Given the description of an element on the screen output the (x, y) to click on. 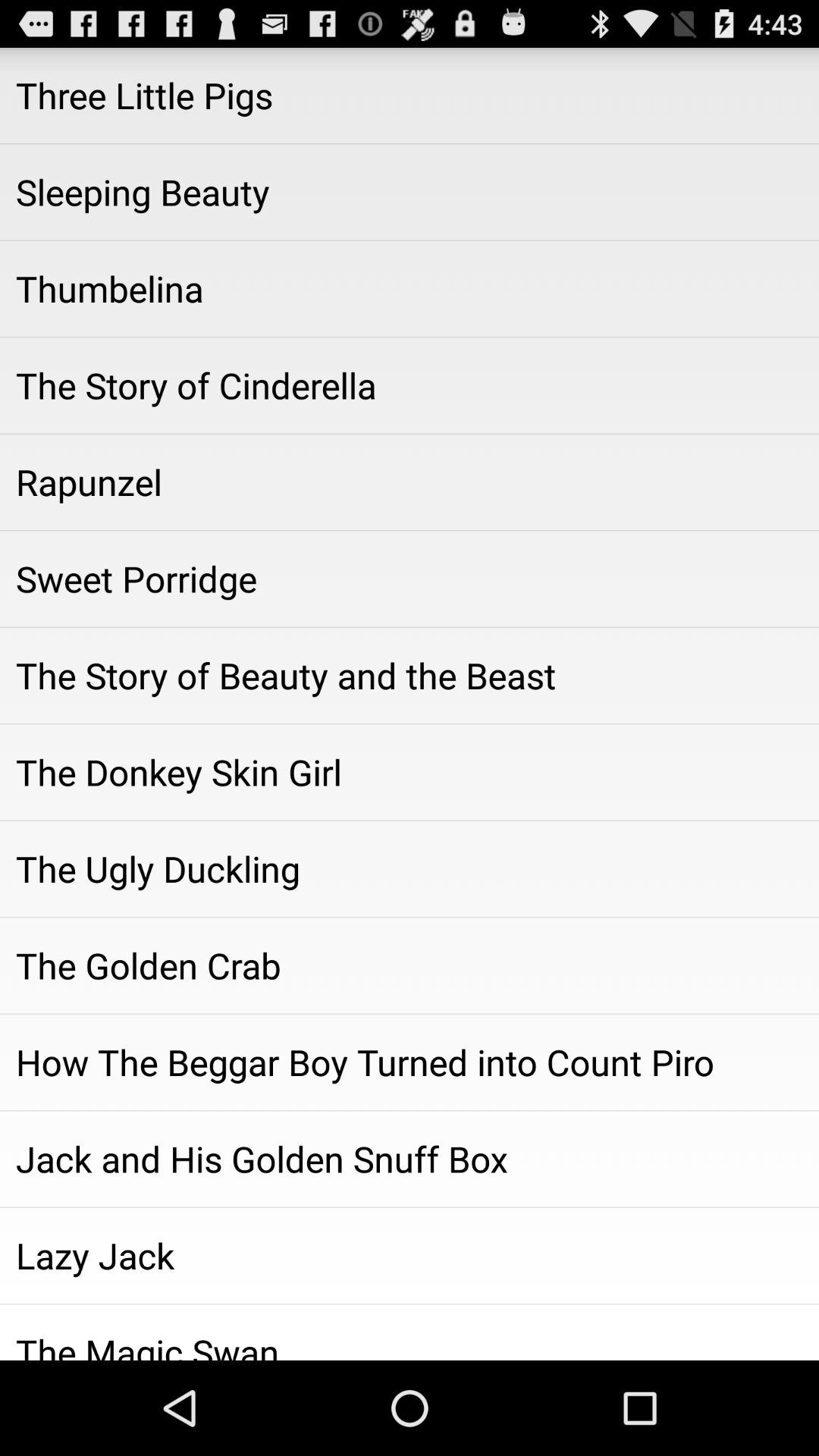
tap thumbelina app (409, 288)
